Given the description of an element on the screen output the (x, y) to click on. 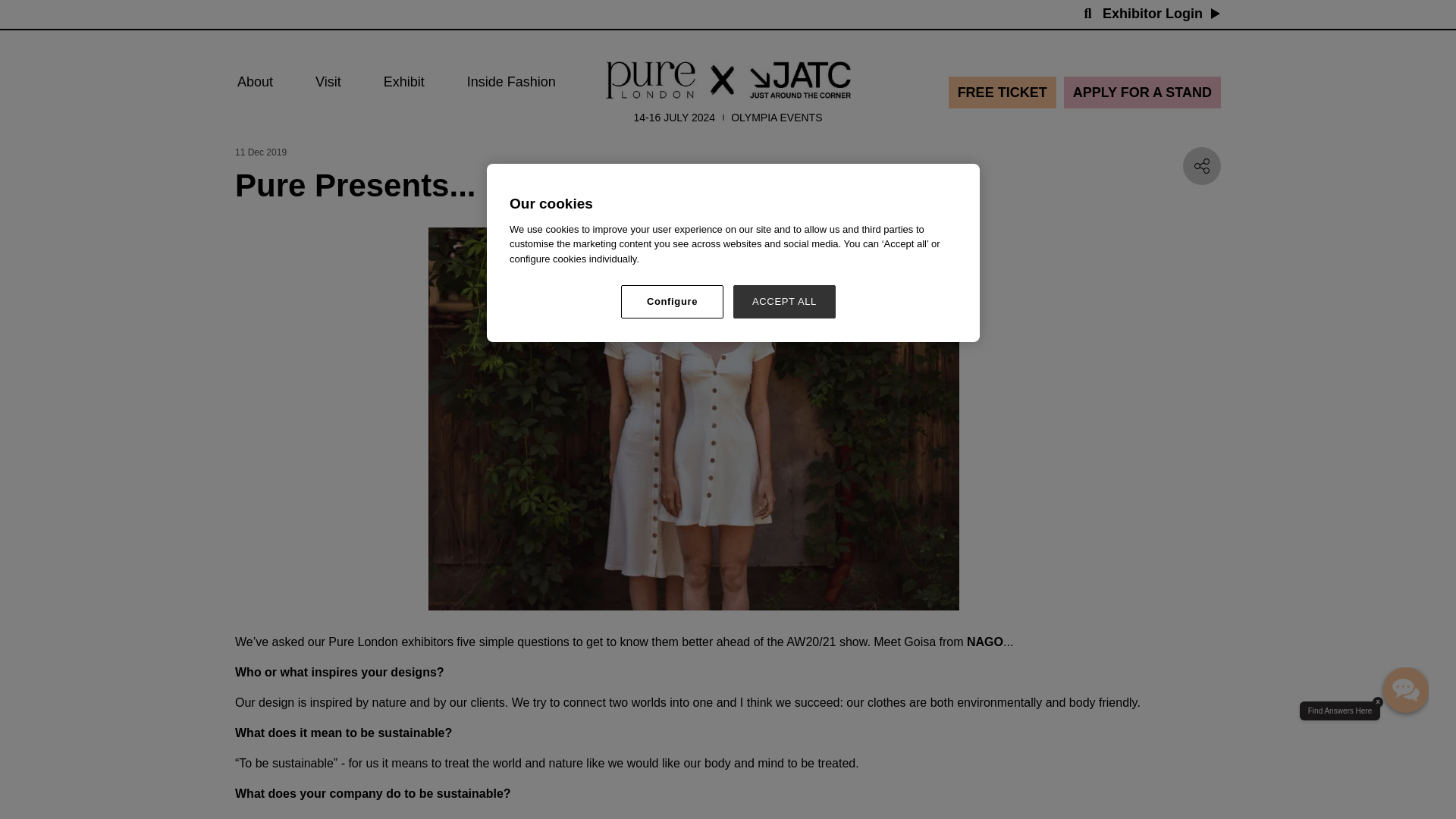
Exhibitor Login (1152, 13)
Exhibitor Login (1161, 13)
